Given the description of an element on the screen output the (x, y) to click on. 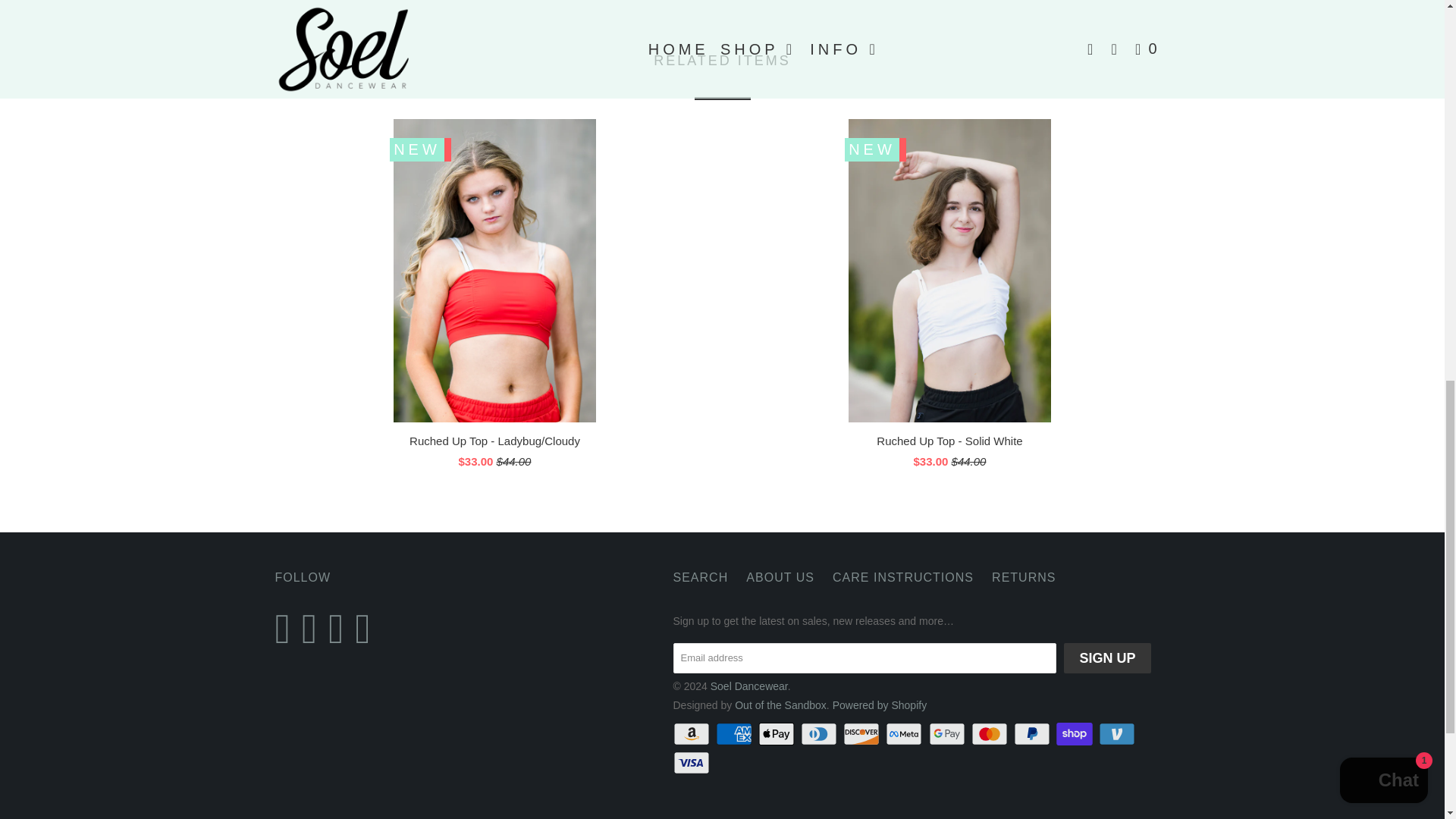
Shop Pay (1076, 733)
Amazon (692, 733)
Meta Pay (904, 733)
Diners Club (820, 733)
Mastercard (990, 733)
Sign Up (1107, 657)
Apple Pay (777, 733)
Google Pay (948, 733)
Venmo (1118, 733)
American Express (735, 733)
PayPal (1032, 733)
Discover (862, 733)
Visa (692, 762)
